Given the description of an element on the screen output the (x, y) to click on. 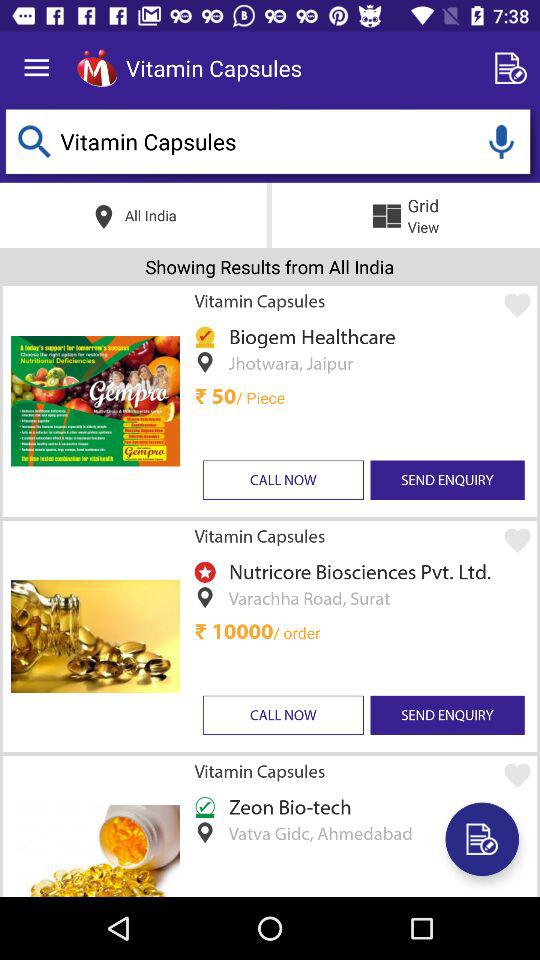
print page (482, 839)
